Given the description of an element on the screen output the (x, y) to click on. 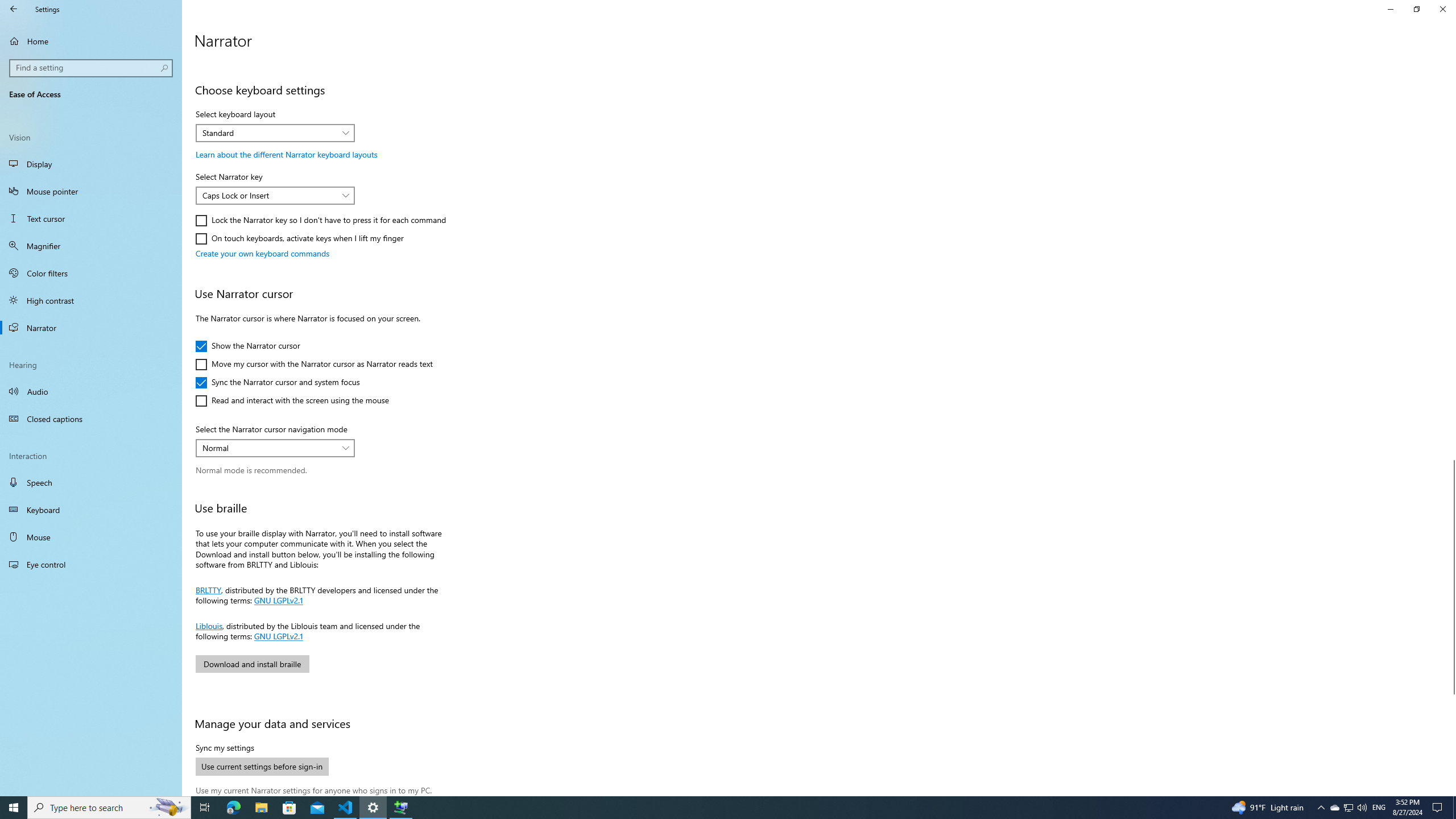
Color filters (91, 272)
Action Center, No new notifications (1439, 807)
Download and install braille (251, 664)
Notification Chevron (1320, 807)
Eye control (91, 564)
Display (91, 163)
Keyboard (91, 509)
Microsoft Store (289, 807)
Microsoft Edge (233, 807)
Select the Narrator cursor navigation mode (275, 447)
Home (91, 40)
Back (13, 9)
BRLTTY (208, 588)
Text cursor (91, 217)
